Given the description of an element on the screen output the (x, y) to click on. 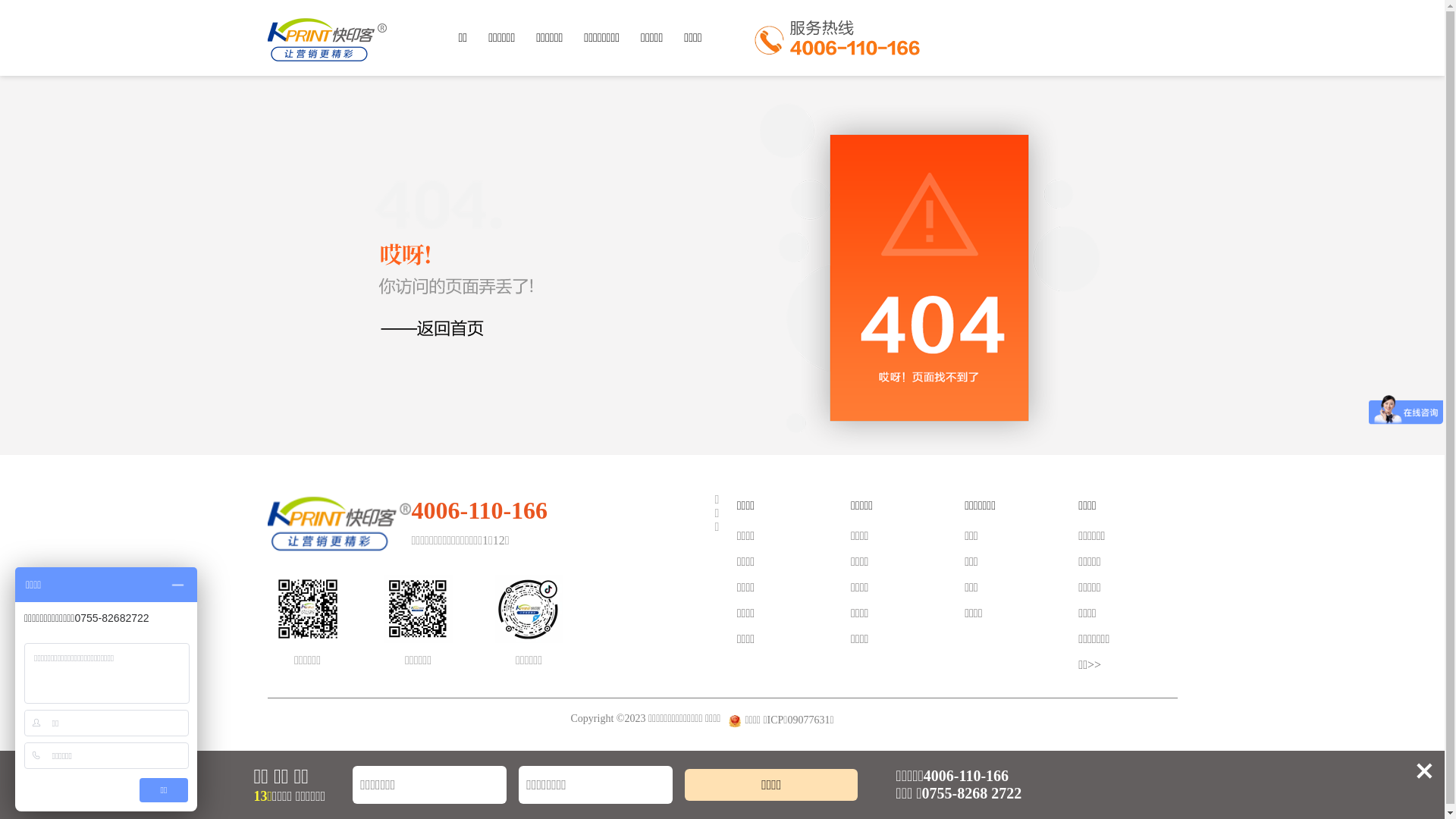
4006-110-166 Element type: text (479, 506)
